Given the description of an element on the screen output the (x, y) to click on. 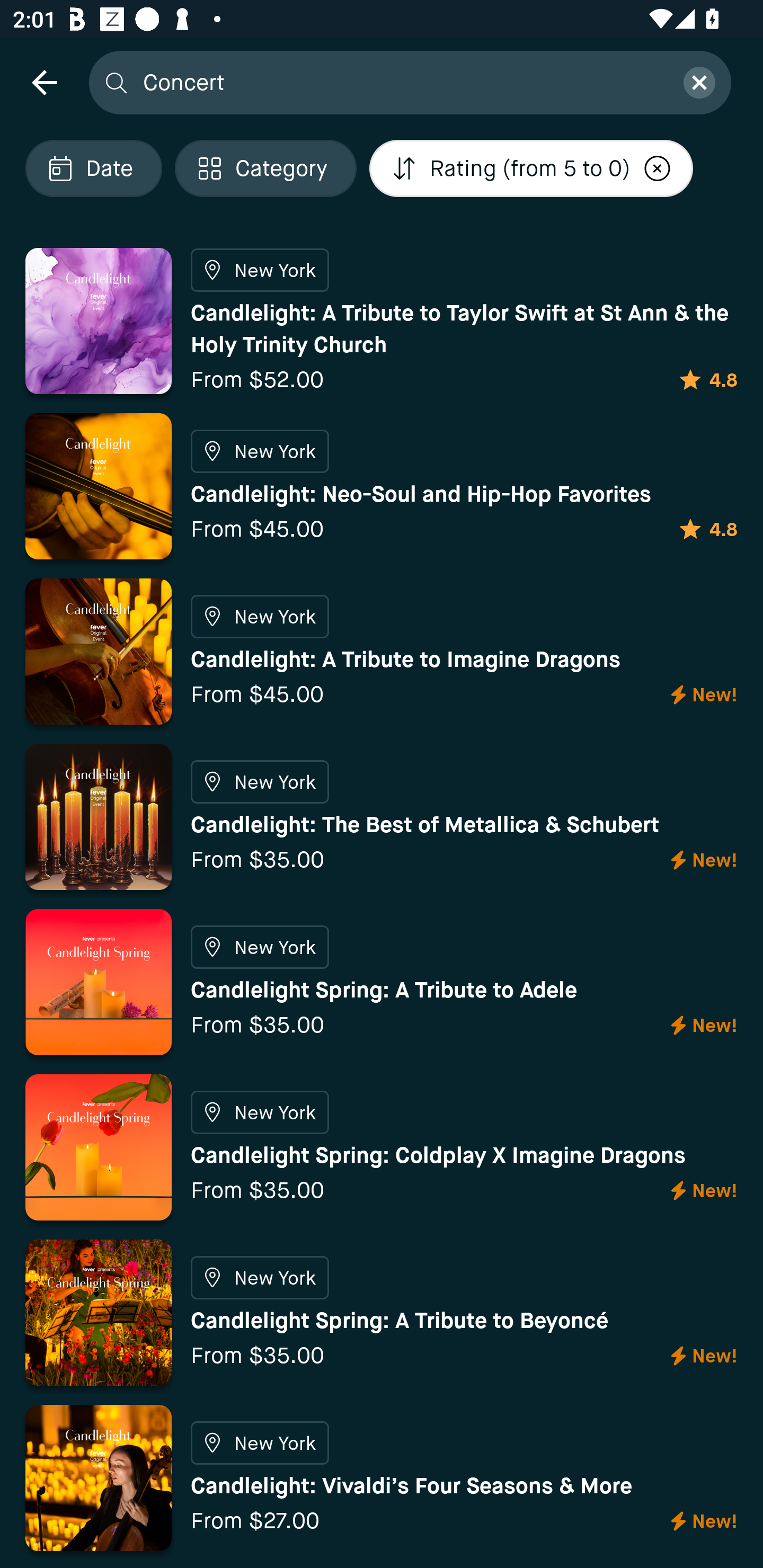
navigation icon (44, 81)
Concert (402, 81)
Localized description Date (93, 168)
Localized description Category (265, 168)
Localized description (657, 168)
